Given the description of an element on the screen output the (x, y) to click on. 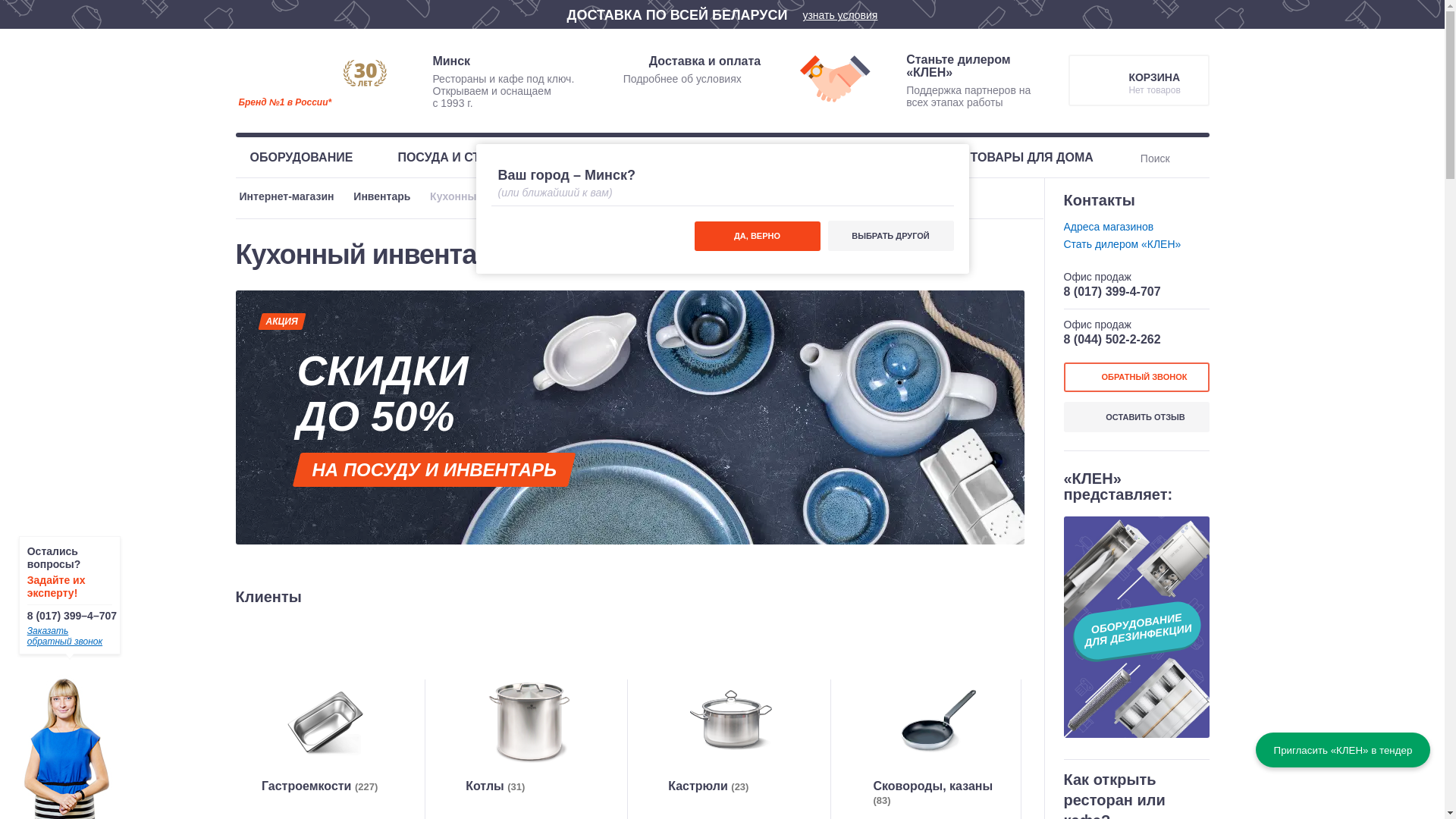
8 (017) 399-4-707 Element type: text (1111, 291)
8 (044) 502-2-262 Element type: text (1111, 338)
